Given the description of an element on the screen output the (x, y) to click on. 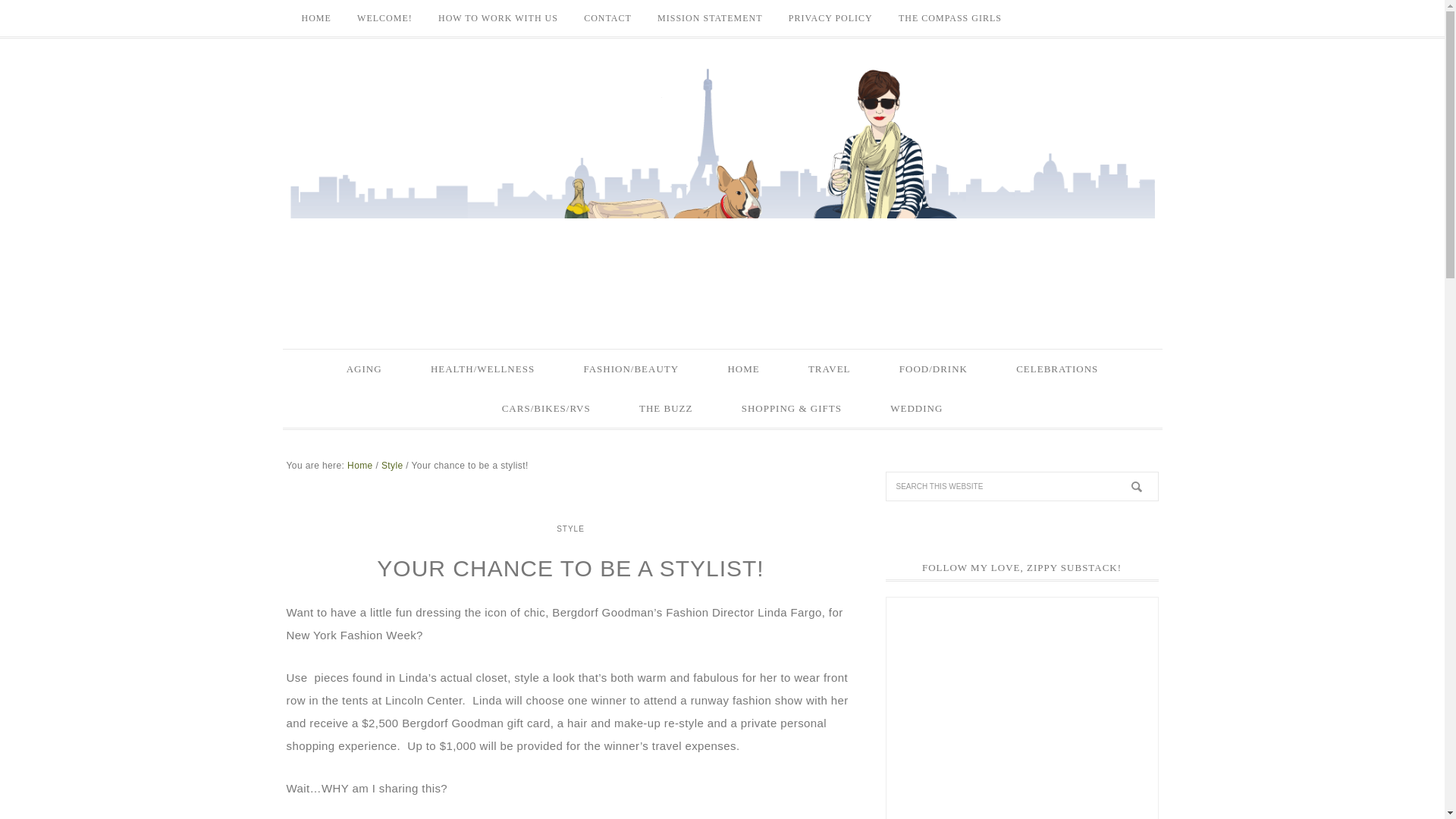
PRIVACY POLICY (830, 18)
AGING (363, 369)
TRAVEL (829, 369)
CELEBRATIONS (1056, 369)
Style (392, 465)
Home (359, 465)
THE BUZZ (664, 407)
CONTACT (607, 18)
HOME (315, 18)
WELCOME! (384, 18)
HOME (742, 369)
MISSION STATEMENT (709, 18)
THE COMPASS GIRLS (949, 18)
